Given the description of an element on the screen output the (x, y) to click on. 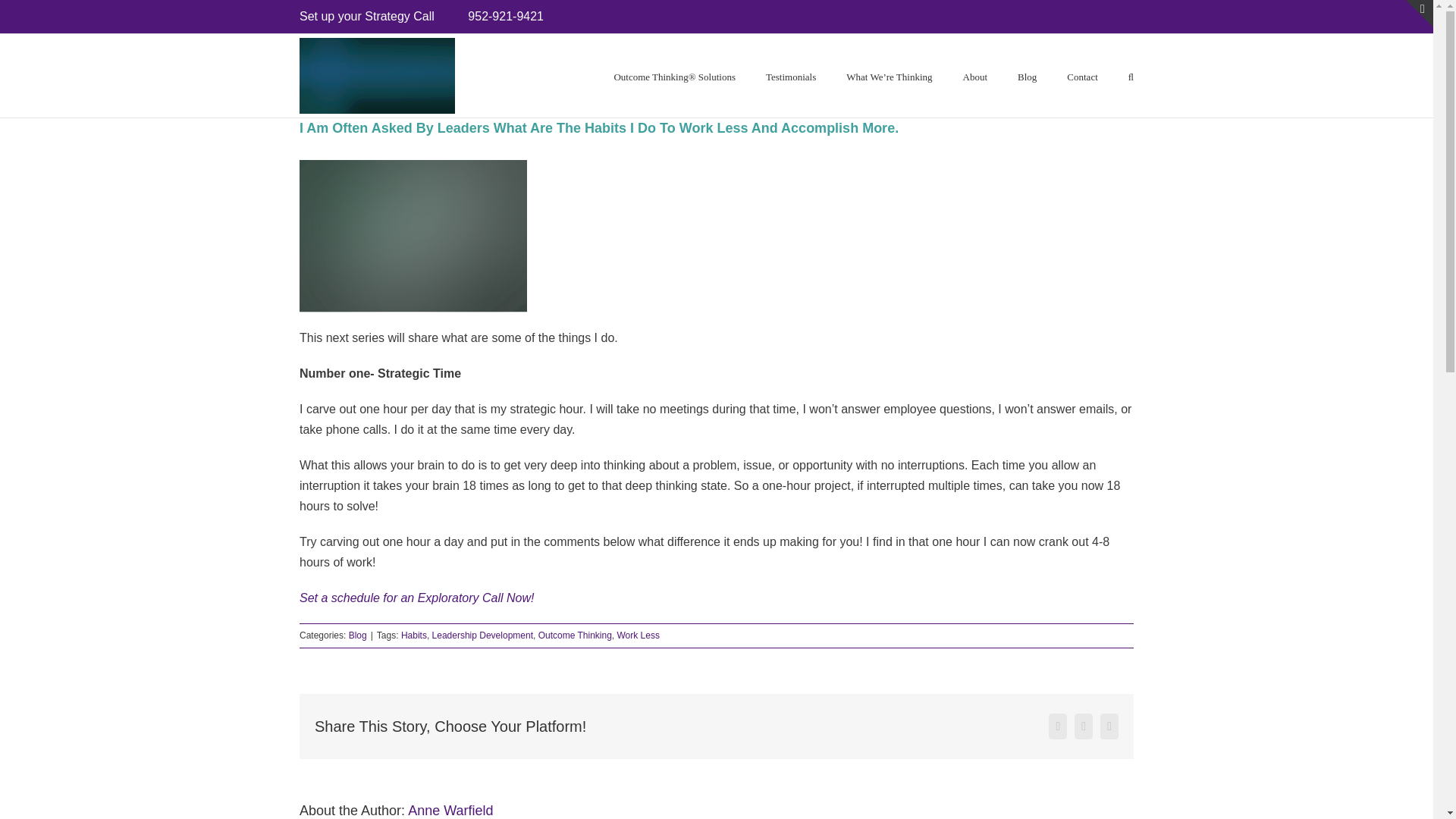
Set up your Strategy Call (366, 15)
Work Less (638, 634)
Posts by Anne Warfield (450, 810)
Blog (357, 634)
Set a schedule for an Exploratory Call Now! (416, 597)
Leadership Development (482, 634)
952-921-9421 (505, 15)
Anne Warfield (450, 810)
Outcome Thinking (574, 634)
Habits (413, 634)
